Given the description of an element on the screen output the (x, y) to click on. 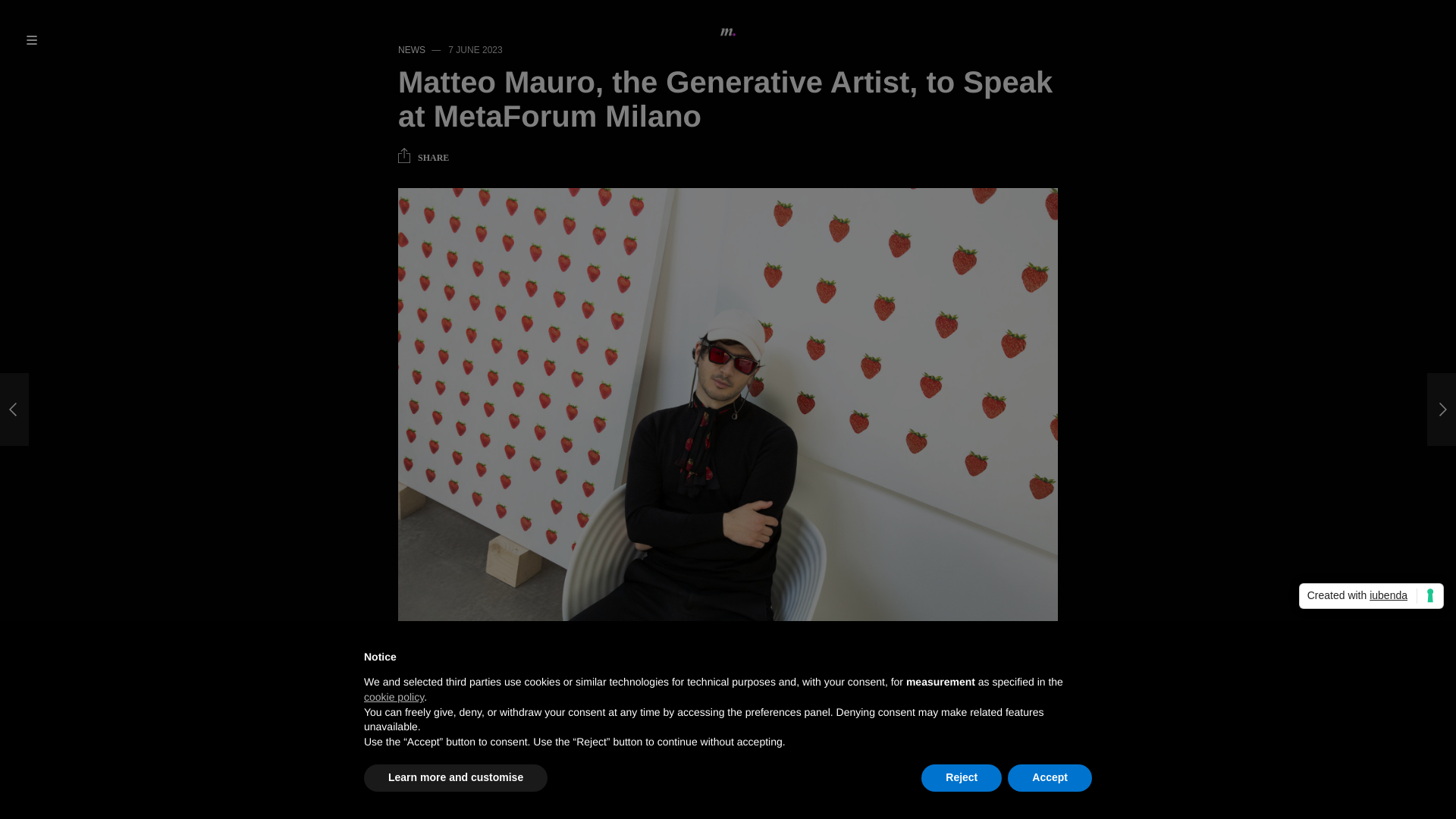
SHARE (422, 157)
Accept (1049, 777)
Learn more and customise (455, 777)
iubenda - Cookie Policy and Cookie Compliance Management (1371, 596)
NEWS (411, 50)
Created with iubenda (1371, 596)
Reject (961, 777)
cookie policy (393, 696)
